Given the description of an element on the screen output the (x, y) to click on. 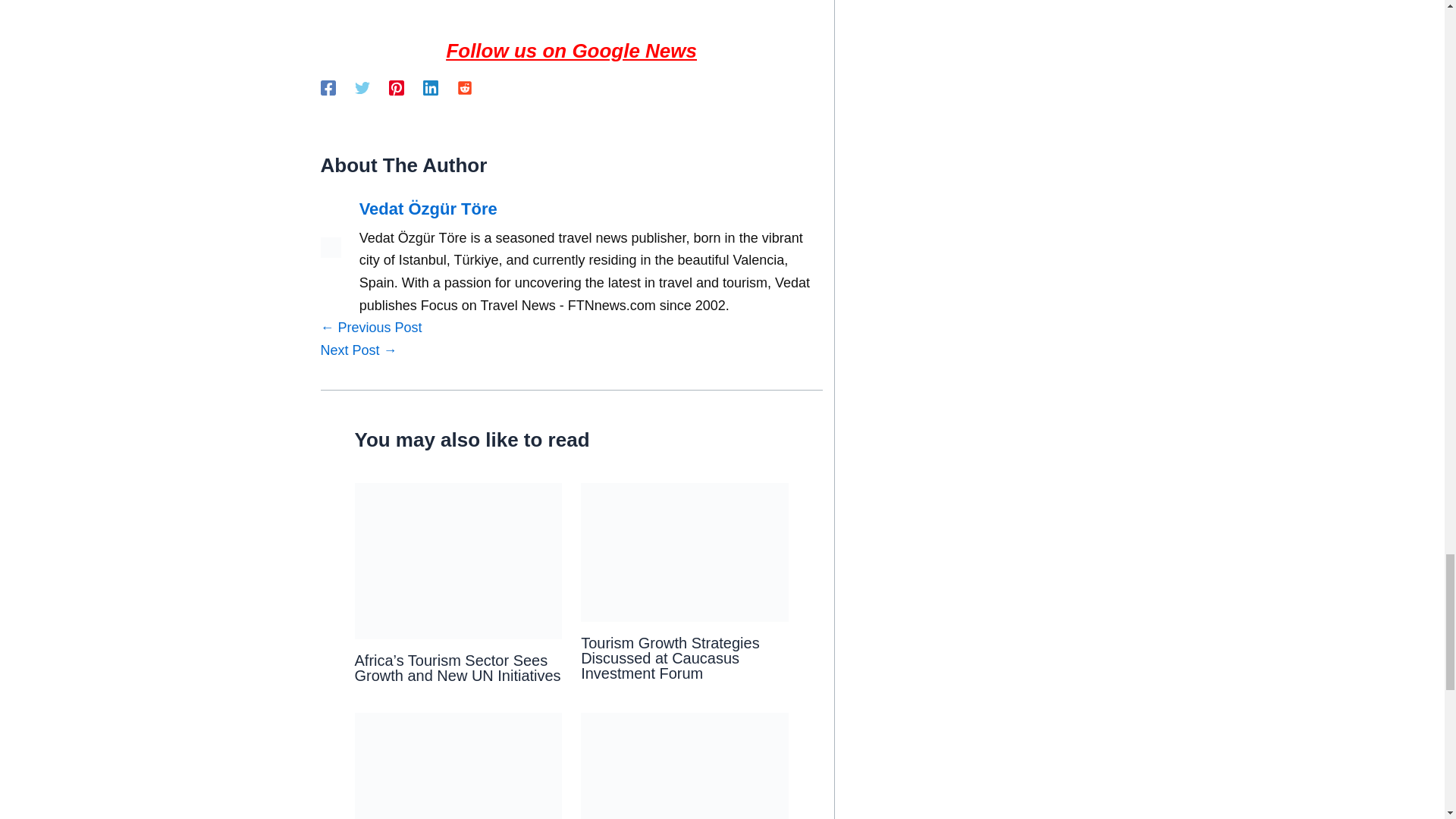
Hungarian LCC Wizz Air Opens New Base in Lviv, Ukraine (371, 327)
IntercityHotel Graz Appoints Stefan Willensdorfer (358, 350)
